Given the description of an element on the screen output the (x, y) to click on. 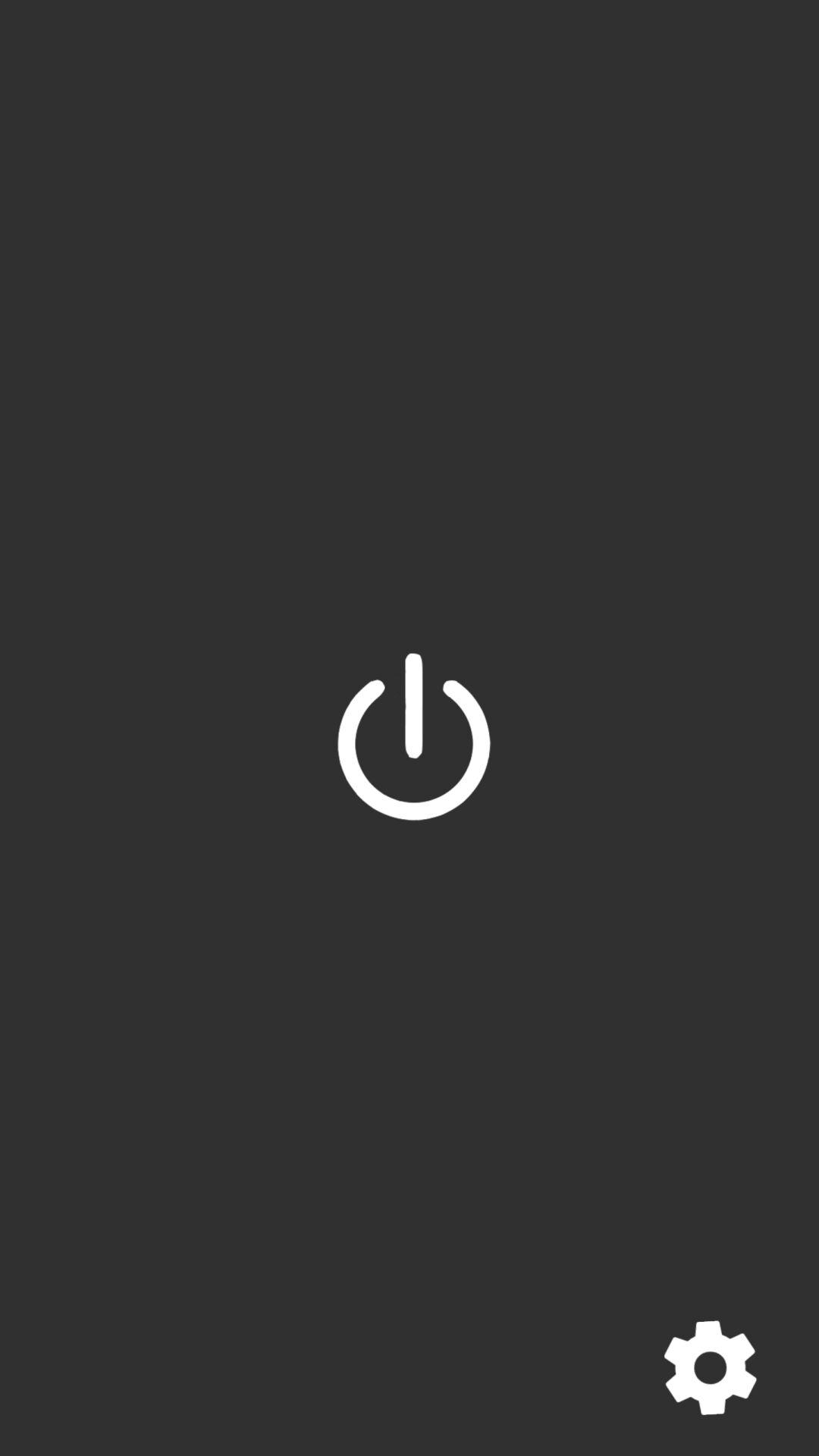
launch icon at the bottom right corner (710, 1367)
